Given the description of an element on the screen output the (x, y) to click on. 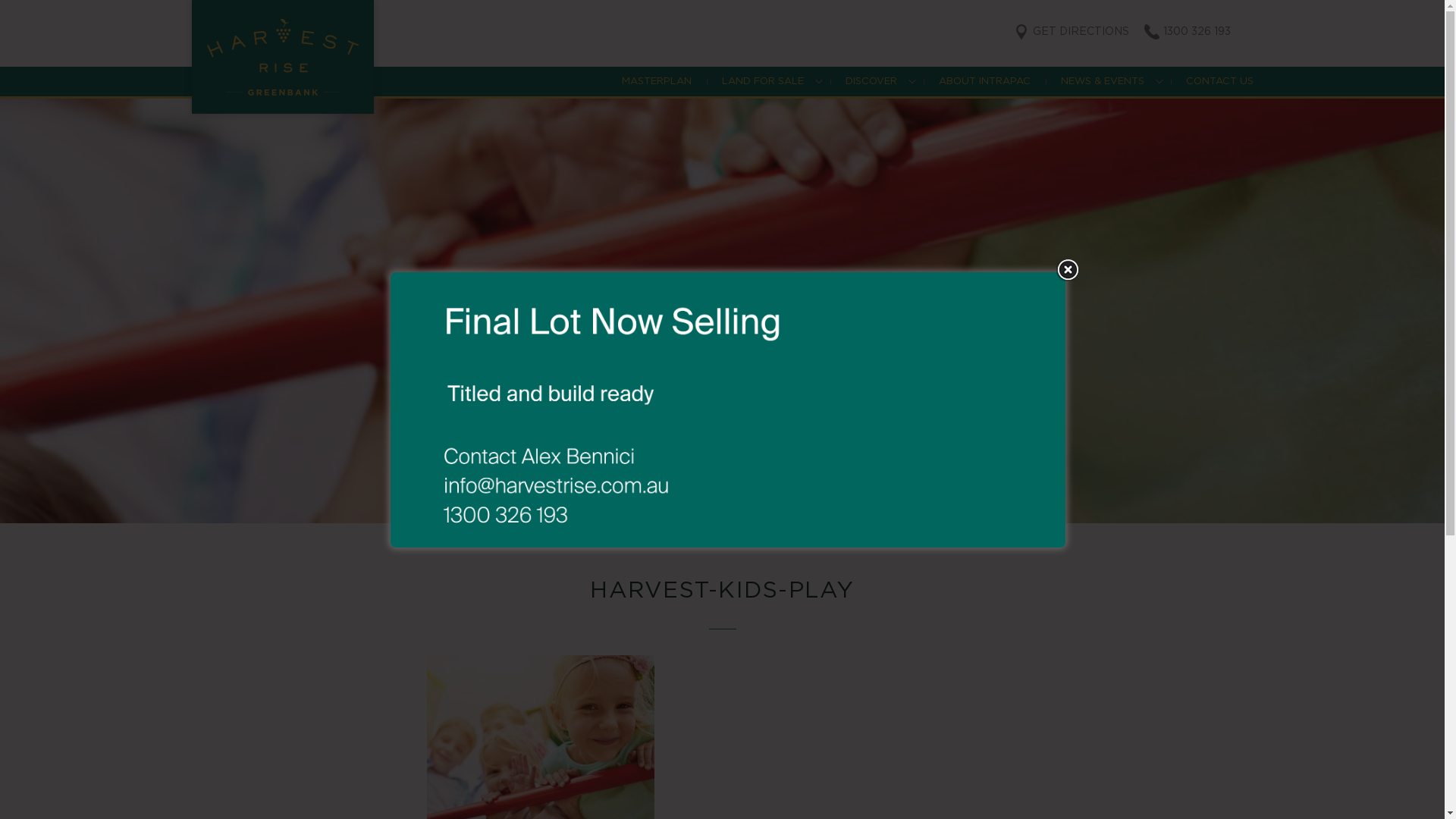
Close Element type: hover (1067, 268)
MASTERPLAN Element type: text (656, 81)
GET DIRECTIONS Element type: text (1070, 31)
Harvest Rise Greenbank Element type: hover (282, 56)
ABOUT INTRAPAC Element type: text (984, 81)
1300 326 193 Element type: text (1186, 31)
CONTACT US Element type: text (1219, 81)
